Given the description of an element on the screen output the (x, y) to click on. 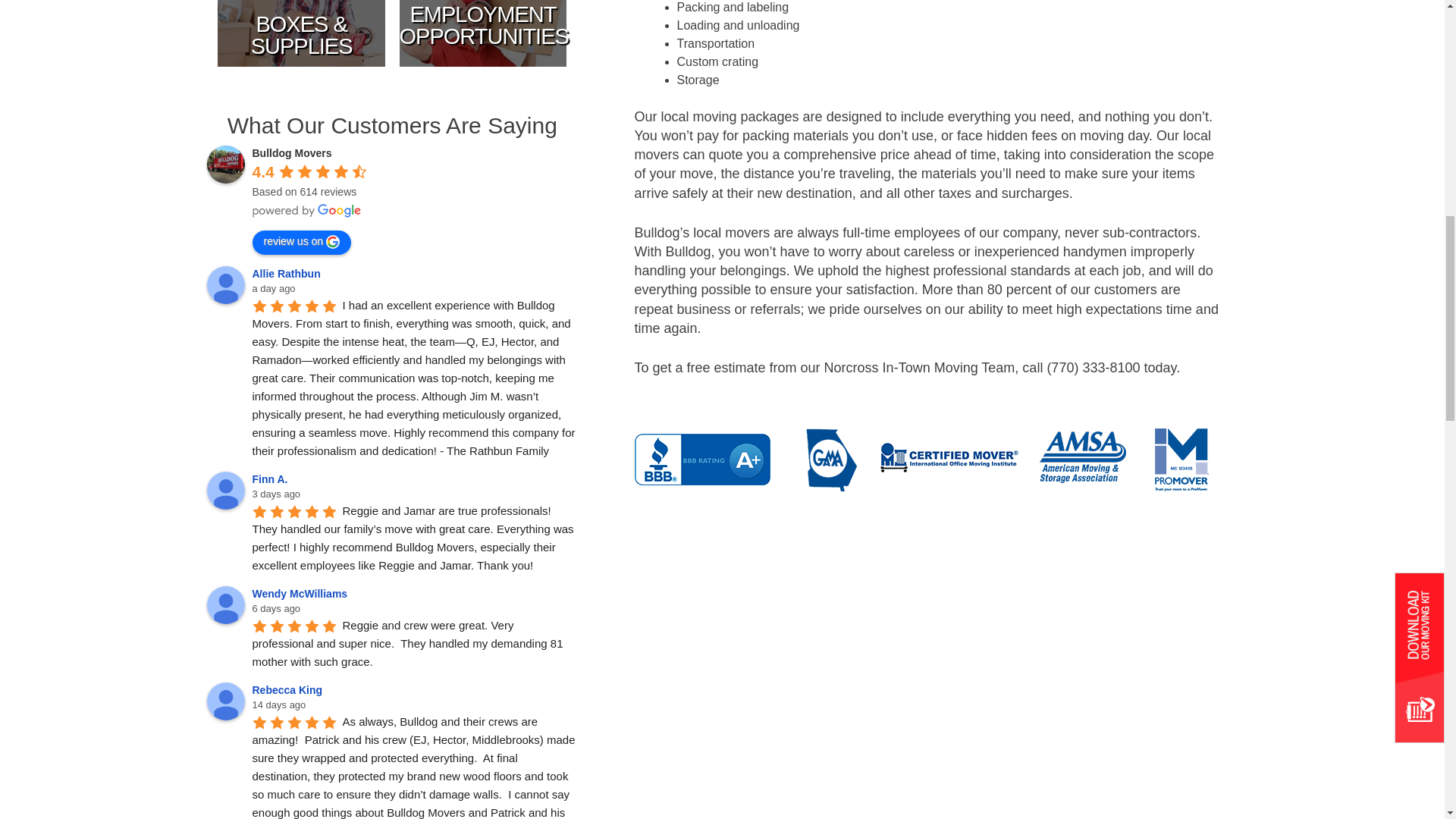
powered by Google (306, 210)
Bulldog Movers (225, 164)
Finn A. (225, 490)
Rebecca King (225, 701)
Wendy McWilliams (225, 605)
Allie Rathbun (225, 284)
